Given the description of an element on the screen output the (x, y) to click on. 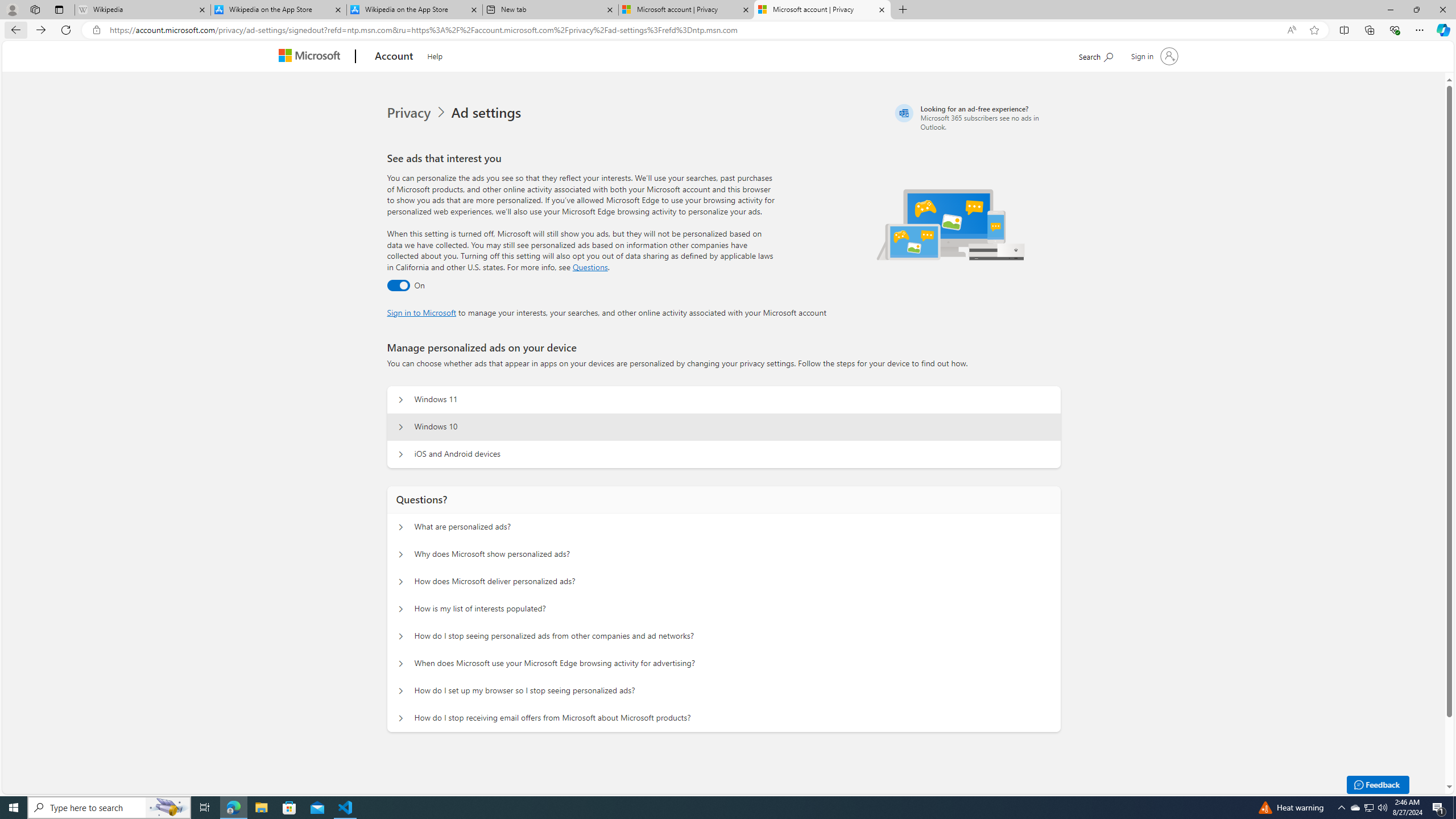
Forward (40, 29)
